Given the description of an element on the screen output the (x, y) to click on. 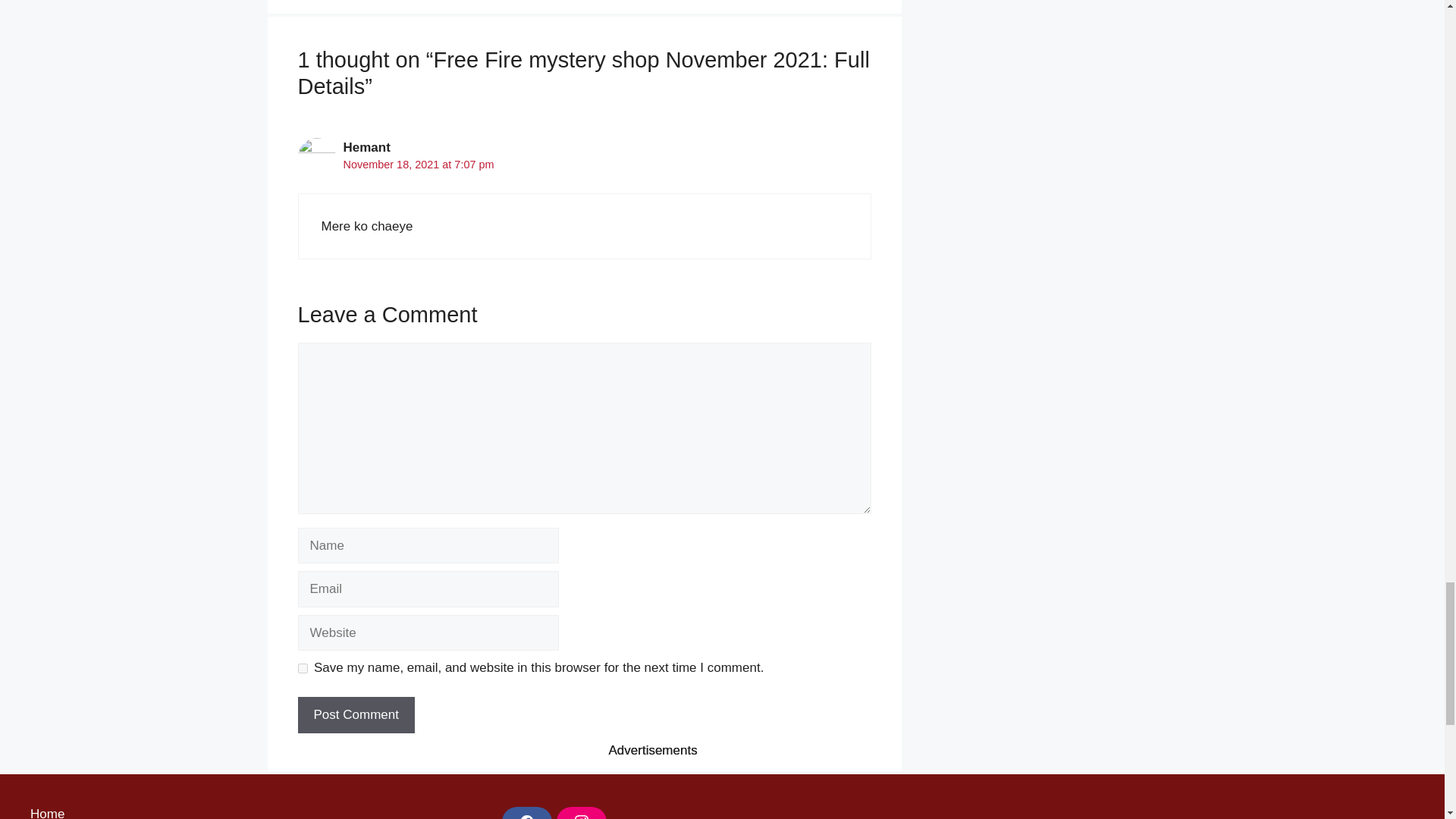
Post Comment (355, 714)
Home (47, 812)
Post Comment (355, 714)
Facebook (526, 812)
yes (302, 668)
Instagram (581, 812)
November 18, 2021 at 7:07 pm (417, 164)
